Given the description of an element on the screen output the (x, y) to click on. 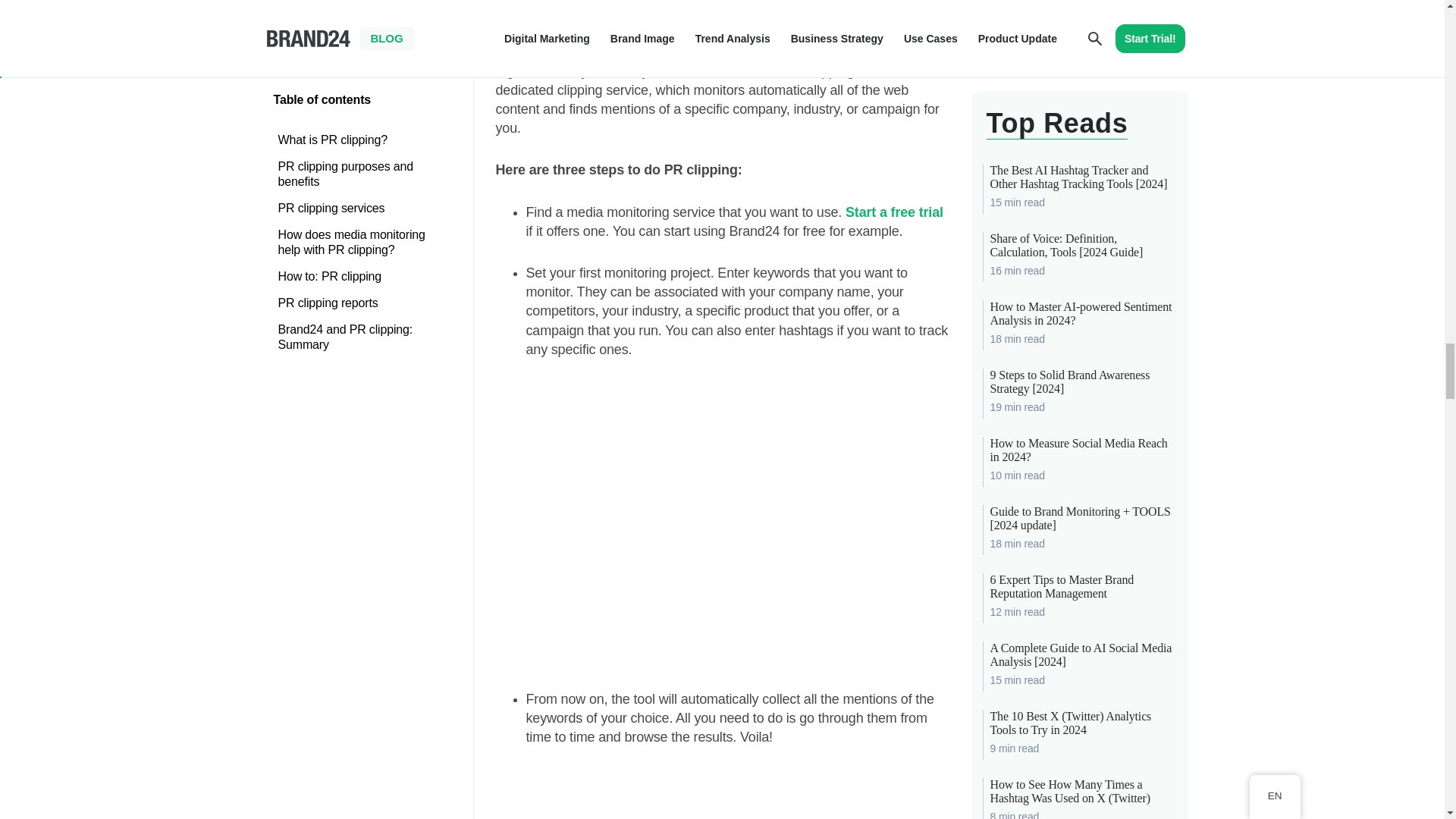
Start a free trial (894, 212)
